Given the description of an element on the screen output the (x, y) to click on. 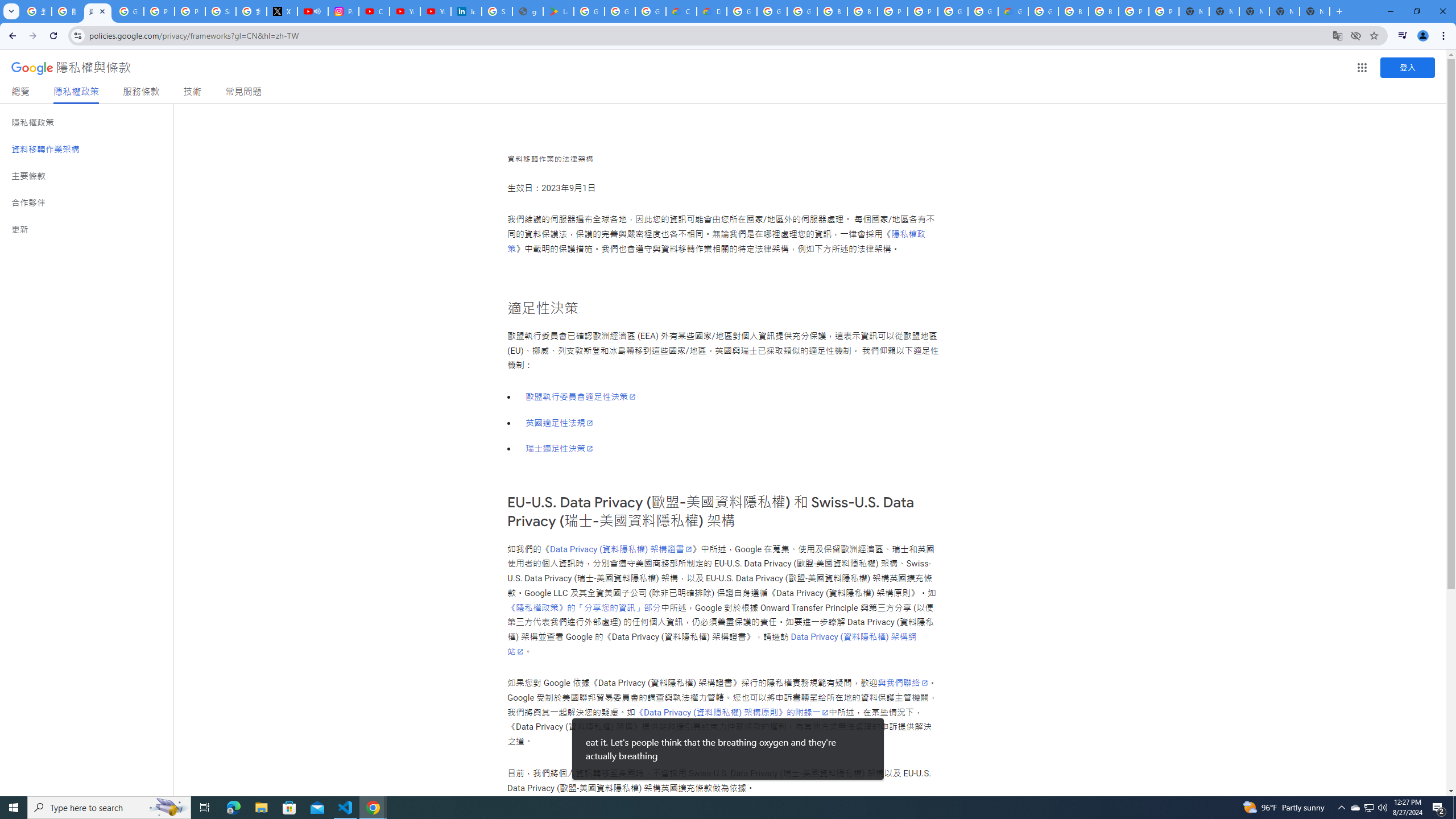
google_privacy_policy_en.pdf (527, 11)
Customer Care | Google Cloud (681, 11)
Google Cloud Platform (952, 11)
